Given the description of an element on the screen output the (x, y) to click on. 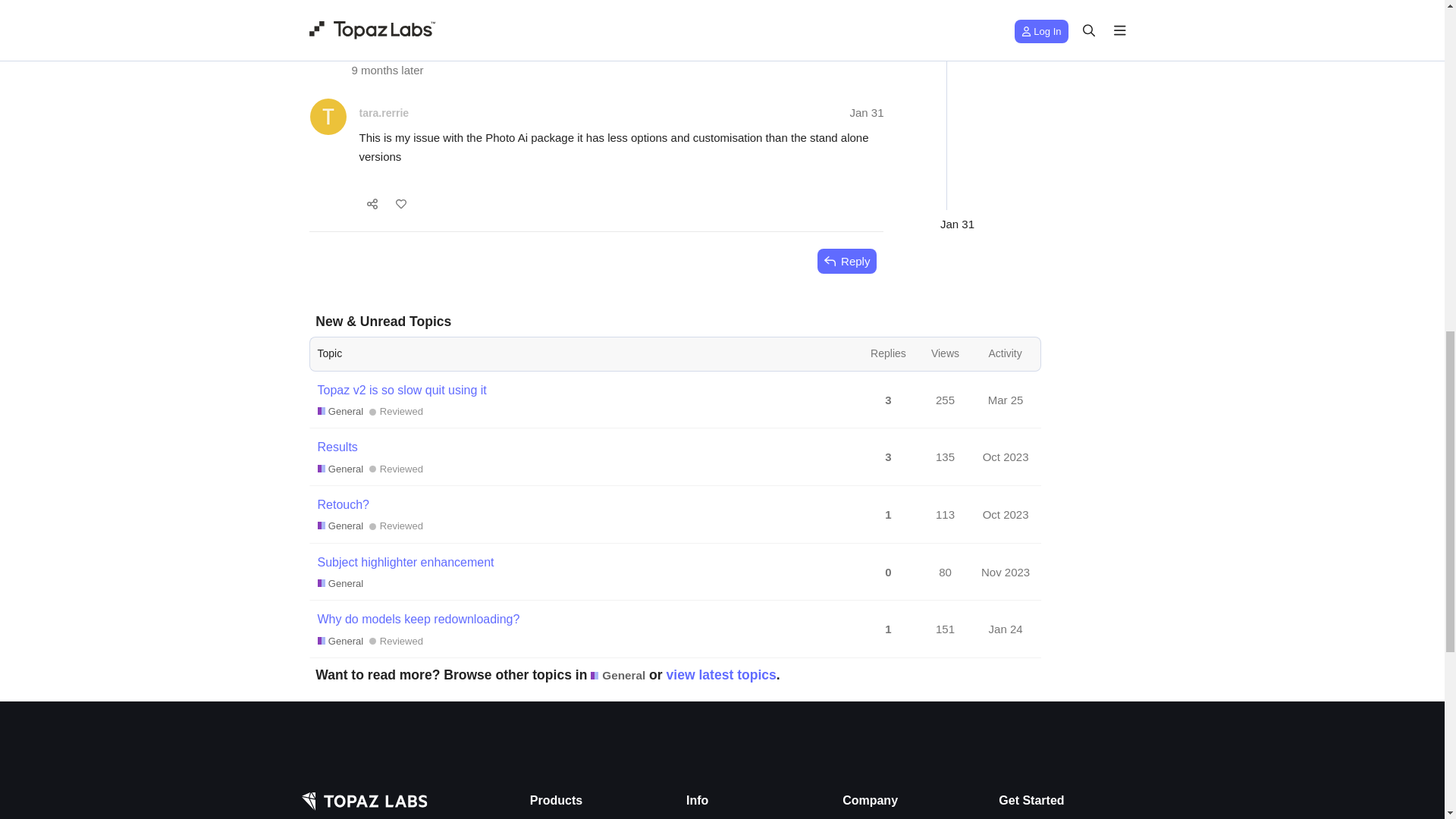
1 (407, 22)
